Given the description of an element on the screen output the (x, y) to click on. 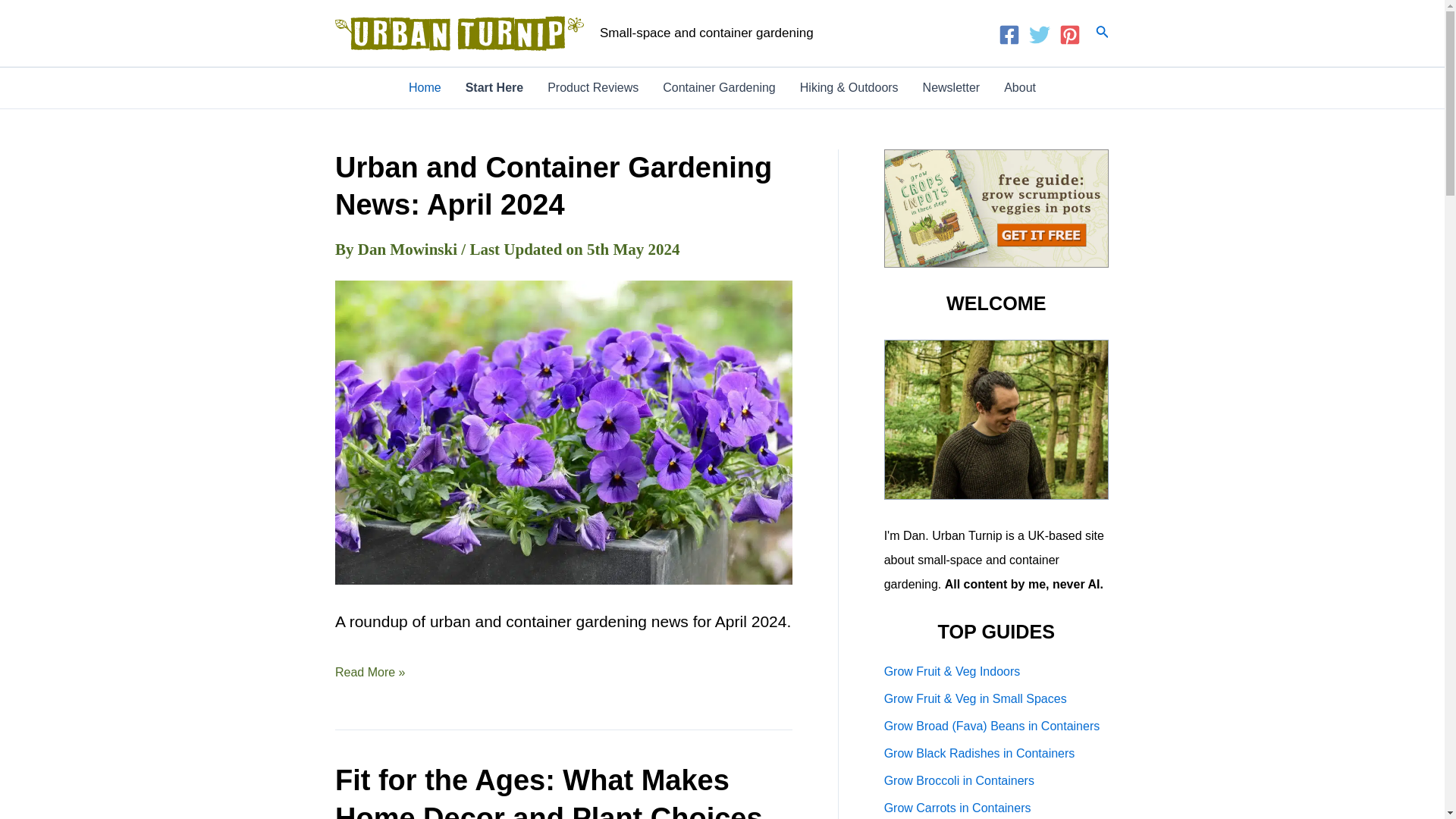
Home (424, 87)
About (1019, 87)
Newsletter (951, 87)
Urban and Container Gardening News: April 2024 (552, 185)
Dan Mowinski (409, 249)
Product Reviews (592, 87)
Container Gardening (718, 87)
View all posts by Dan Mowinski (409, 249)
Start Here (493, 87)
